Given the description of an element on the screen output the (x, y) to click on. 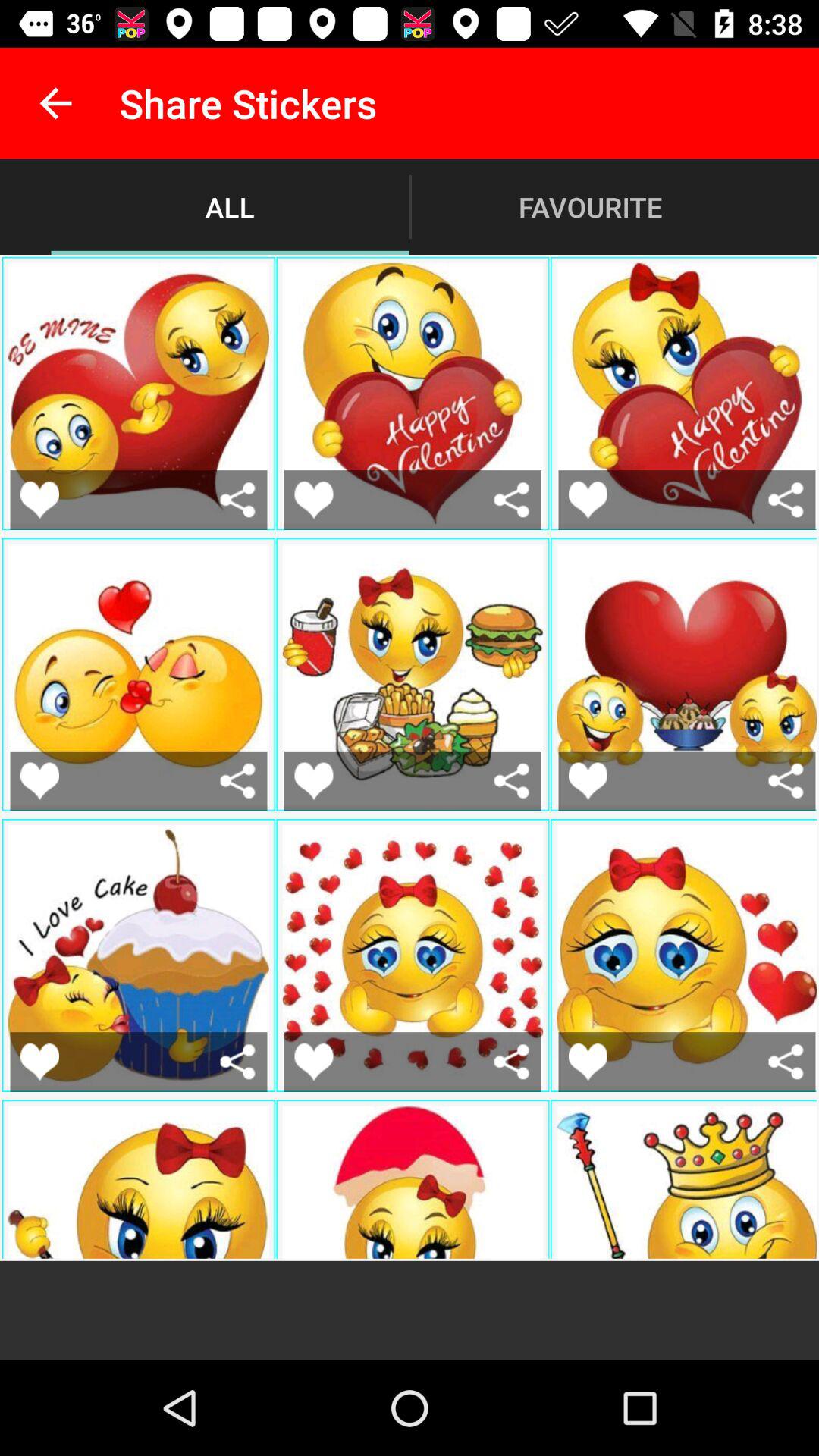
press information (237, 780)
